Given the description of an element on the screen output the (x, y) to click on. 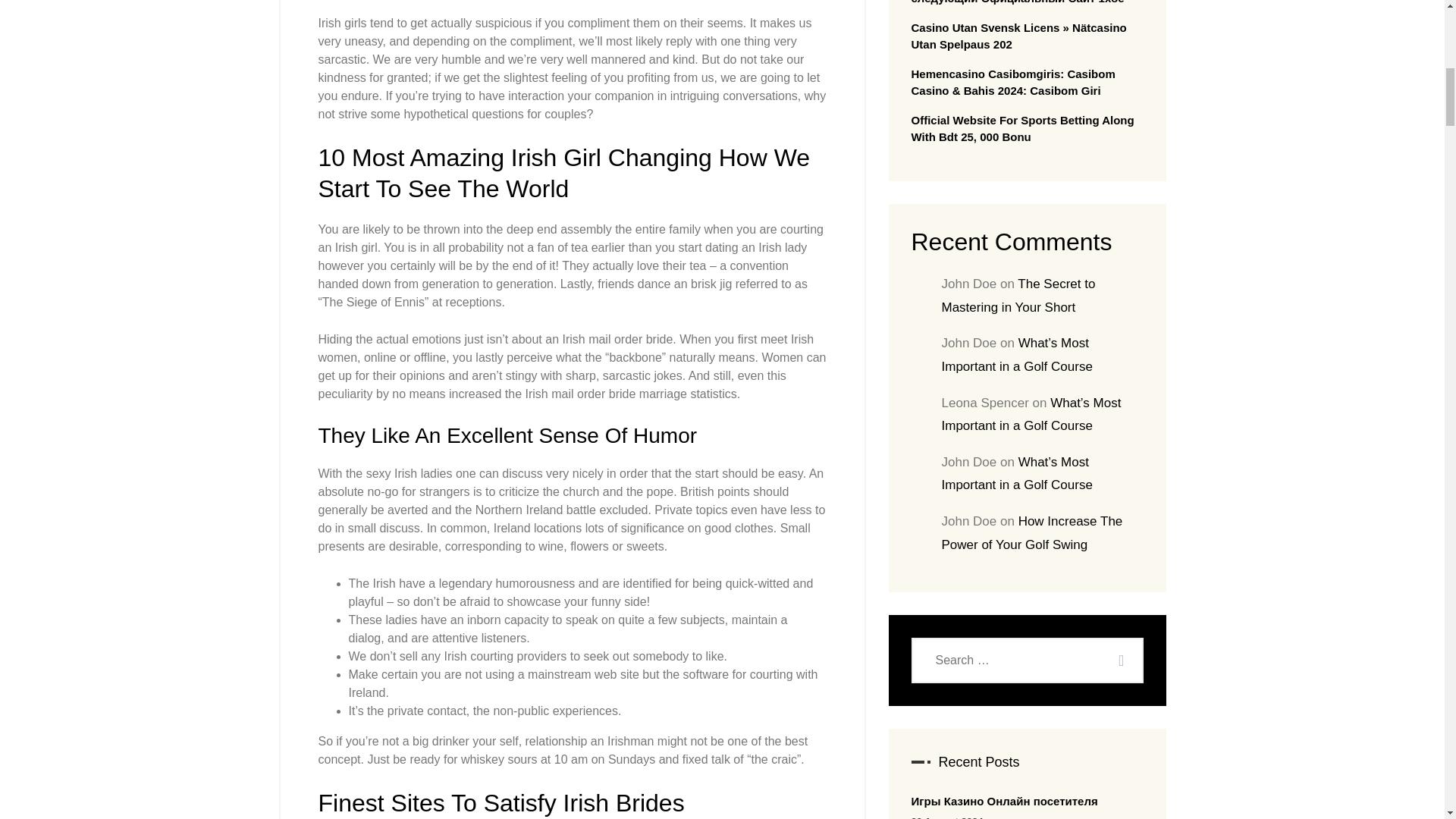
How Increase The Power of Your Golf Swing (1032, 533)
The Secret to Mastering in Your Short (1019, 295)
29 August 2024 (947, 816)
